Given the description of an element on the screen output the (x, y) to click on. 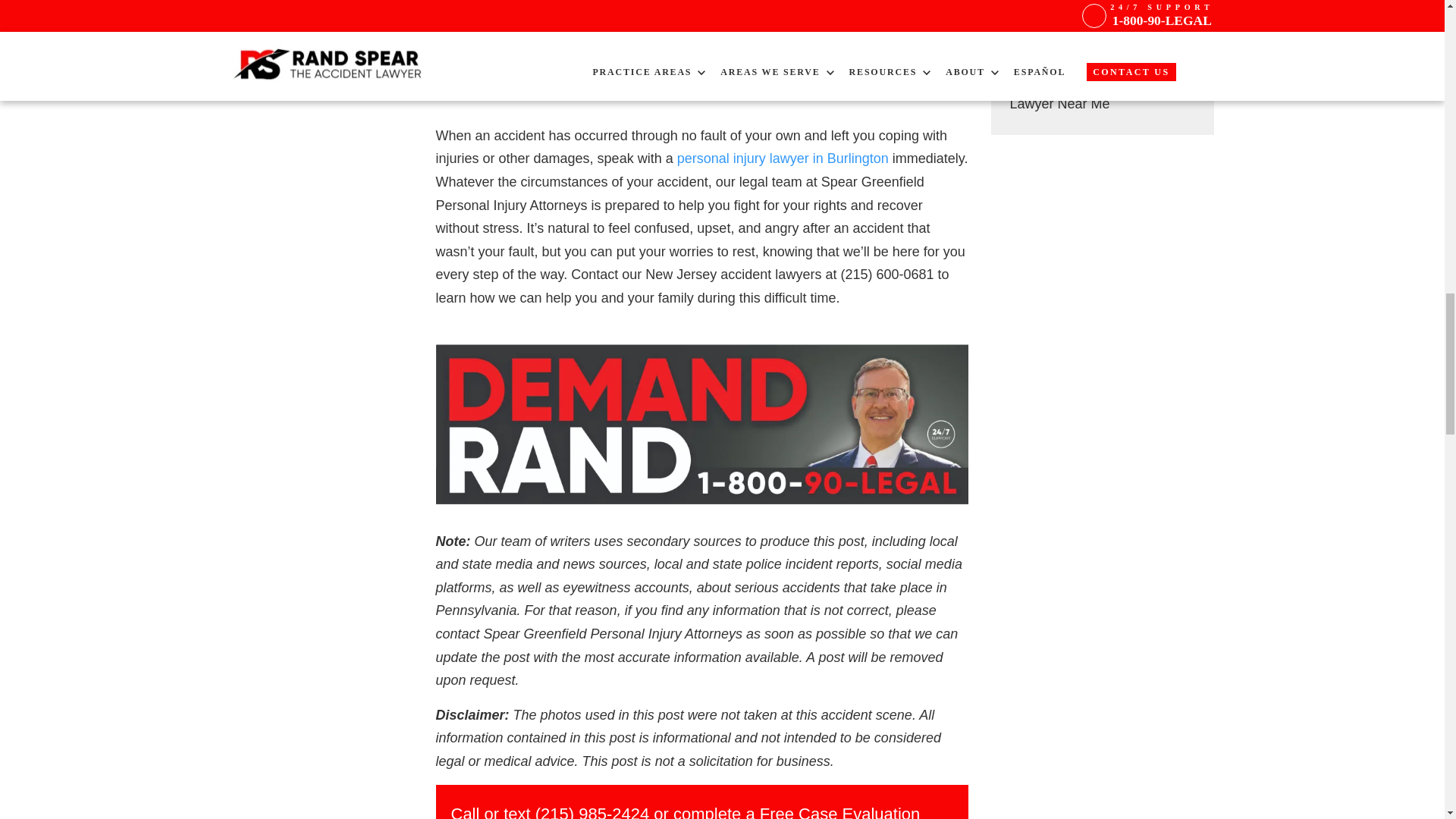
Drop The Mike On Personal Injury Claims (701, 49)
Demand Rand (701, 423)
